Given the description of an element on the screen output the (x, y) to click on. 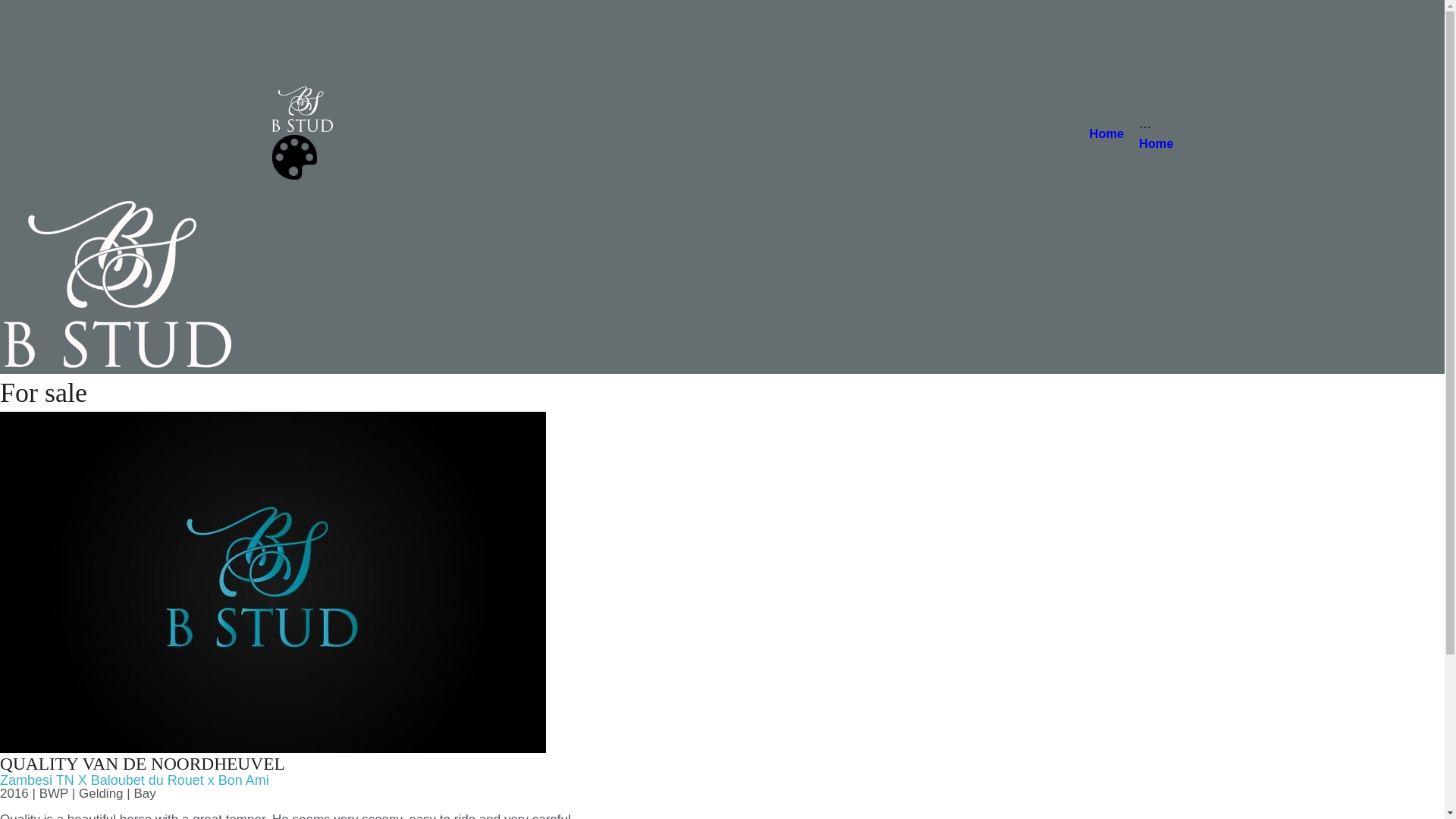
Home Element type: text (1106, 133)
Home Element type: text (1156, 143)
